Given the description of an element on the screen output the (x, y) to click on. 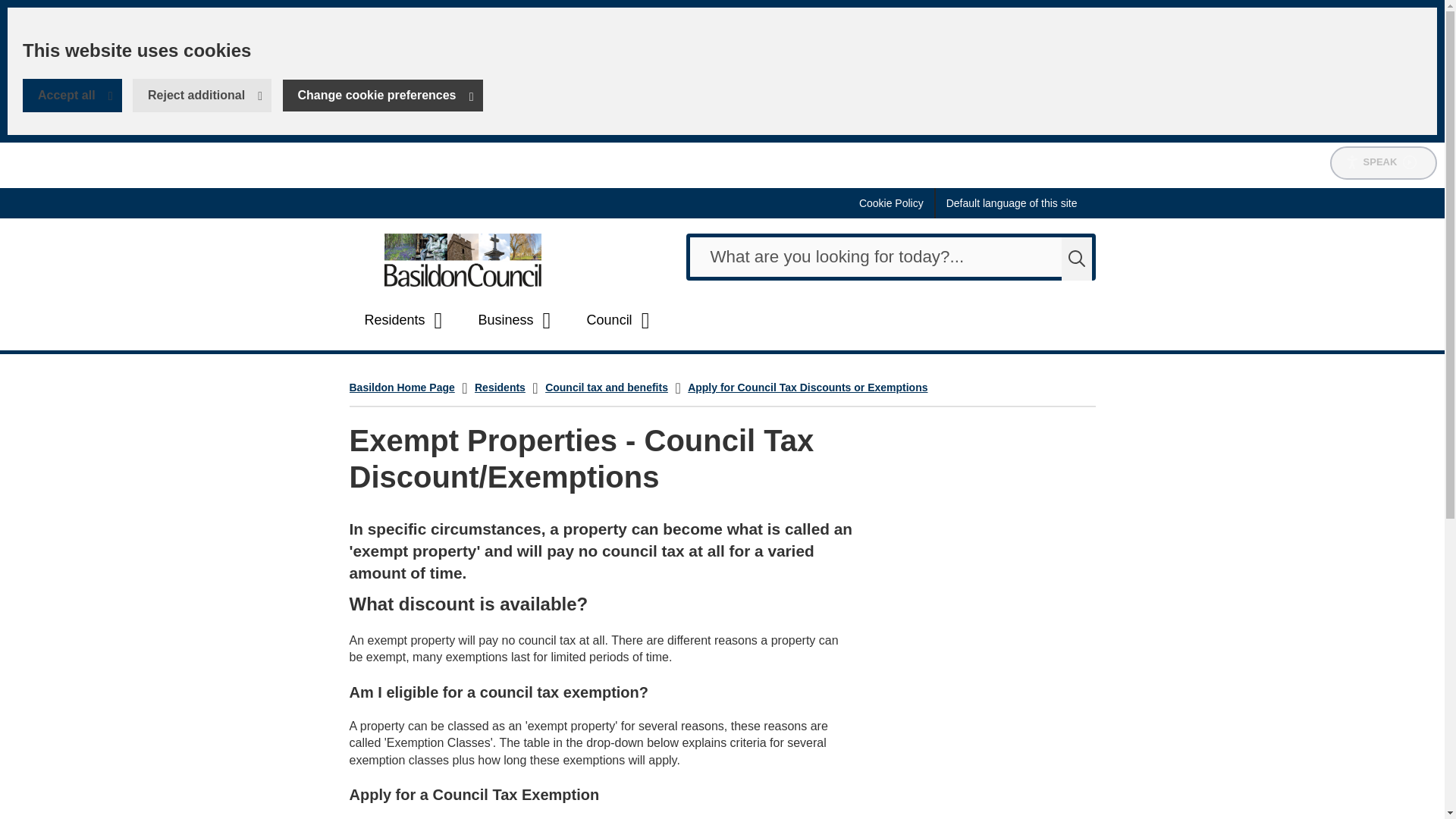
What are you looking for today?... (889, 257)
Reject additional (201, 95)
Skip to main content (462, 259)
SPEAK (11, 11)
Accept all (1383, 162)
Listen with the ReachDeck Toolbar (72, 95)
Search Input Box (1383, 162)
Council (889, 257)
Business (620, 319)
Cookie Policy (517, 319)
Change cookie preferences (891, 203)
Default language of this site (382, 95)
Residents (1011, 203)
